Given the description of an element on the screen output the (x, y) to click on. 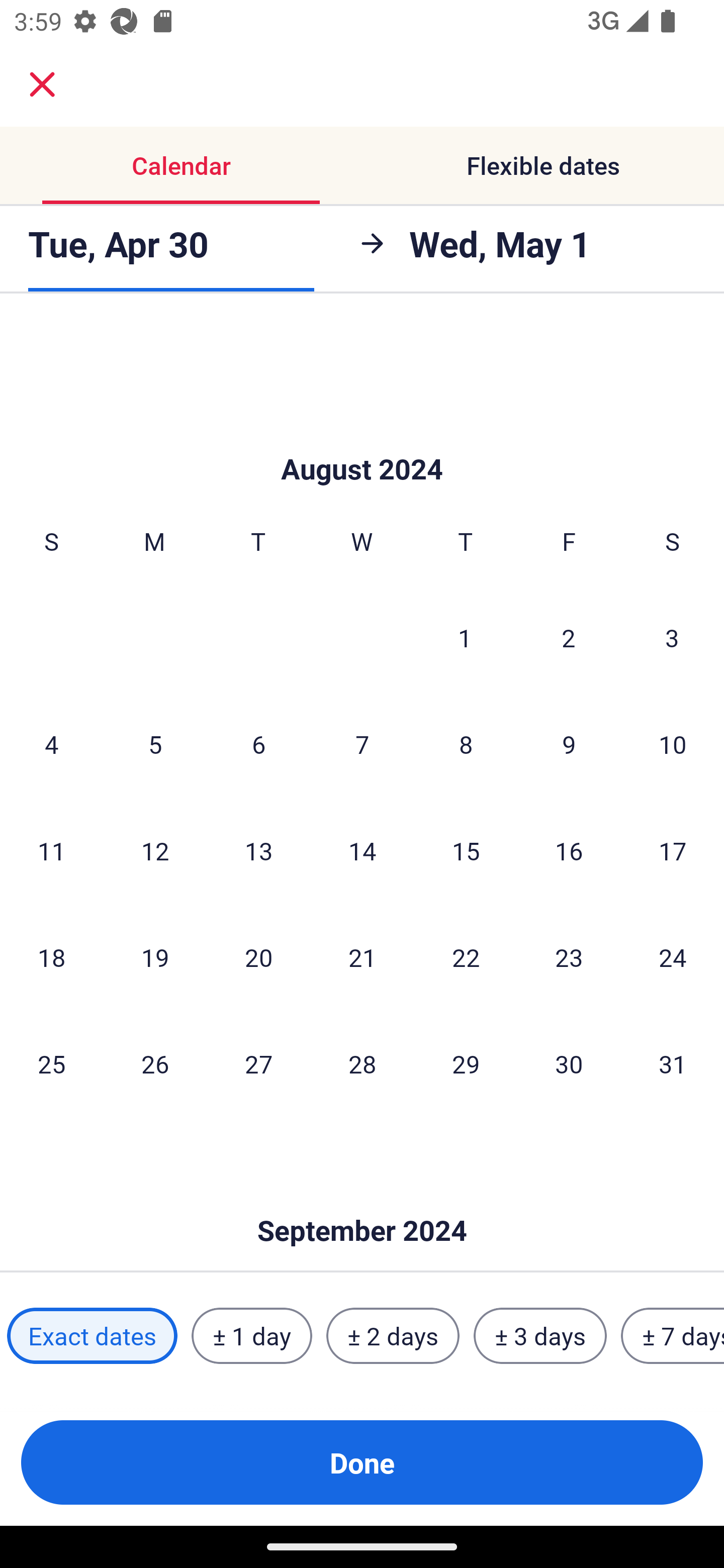
close. (42, 84)
Flexible dates (542, 164)
Skip to Done (362, 438)
1 Thursday, August 1, 2024 (464, 637)
2 Friday, August 2, 2024 (568, 637)
3 Saturday, August 3, 2024 (672, 637)
4 Sunday, August 4, 2024 (51, 743)
5 Monday, August 5, 2024 (155, 743)
6 Tuesday, August 6, 2024 (258, 743)
7 Wednesday, August 7, 2024 (362, 743)
8 Thursday, August 8, 2024 (465, 743)
9 Friday, August 9, 2024 (569, 743)
10 Saturday, August 10, 2024 (672, 743)
11 Sunday, August 11, 2024 (51, 850)
12 Monday, August 12, 2024 (155, 850)
13 Tuesday, August 13, 2024 (258, 850)
14 Wednesday, August 14, 2024 (362, 850)
15 Thursday, August 15, 2024 (465, 850)
16 Friday, August 16, 2024 (569, 850)
17 Saturday, August 17, 2024 (672, 850)
18 Sunday, August 18, 2024 (51, 957)
19 Monday, August 19, 2024 (155, 957)
20 Tuesday, August 20, 2024 (258, 957)
21 Wednesday, August 21, 2024 (362, 957)
22 Thursday, August 22, 2024 (465, 957)
23 Friday, August 23, 2024 (569, 957)
24 Saturday, August 24, 2024 (672, 957)
25 Sunday, August 25, 2024 (51, 1063)
26 Monday, August 26, 2024 (155, 1063)
27 Tuesday, August 27, 2024 (258, 1063)
28 Wednesday, August 28, 2024 (362, 1063)
29 Thursday, August 29, 2024 (465, 1063)
30 Friday, August 30, 2024 (569, 1063)
31 Saturday, August 31, 2024 (672, 1063)
Skip to Done (362, 1200)
Exact dates (92, 1335)
± 1 day (251, 1335)
± 2 days (392, 1335)
± 3 days (539, 1335)
± 7 days (672, 1335)
Done (361, 1462)
